Given the description of an element on the screen output the (x, y) to click on. 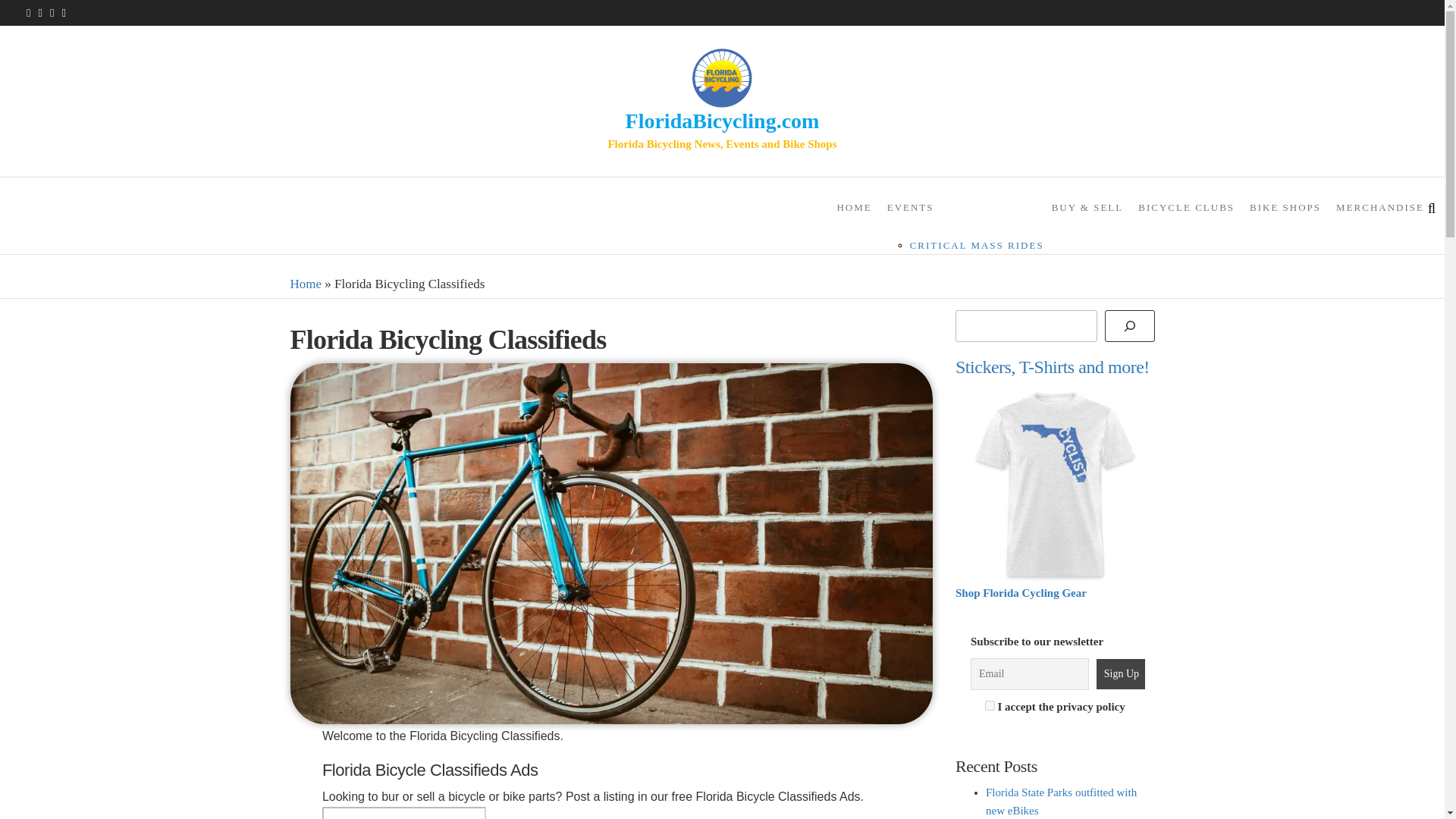
BICYCLE CLUBS (1186, 207)
Florida State Parks outfitted with new eBikes (1061, 801)
Sign Up (1120, 674)
BIKE SHOPS (1284, 207)
Critical Mass Rides (976, 244)
Bike Shops (1284, 207)
Home (305, 283)
FloridaBicycling.com (722, 120)
Events (961, 207)
EVENTS (961, 207)
